Given the description of an element on the screen output the (x, y) to click on. 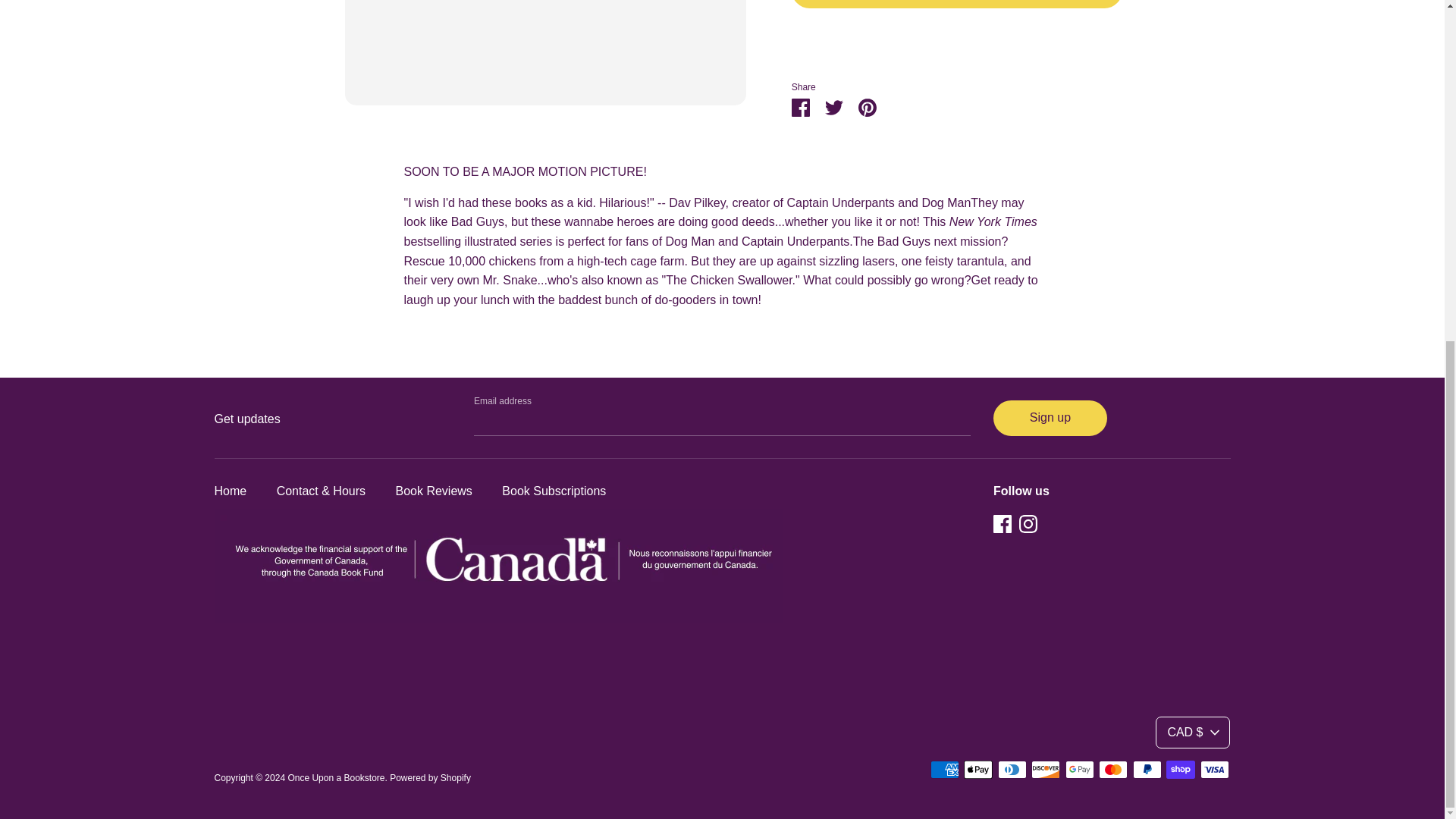
Mastercard (1112, 769)
American Express (944, 769)
Diners Club (1011, 769)
Discover (1044, 769)
Google Pay (1079, 769)
Apple Pay (977, 769)
